Given the description of an element on the screen output the (x, y) to click on. 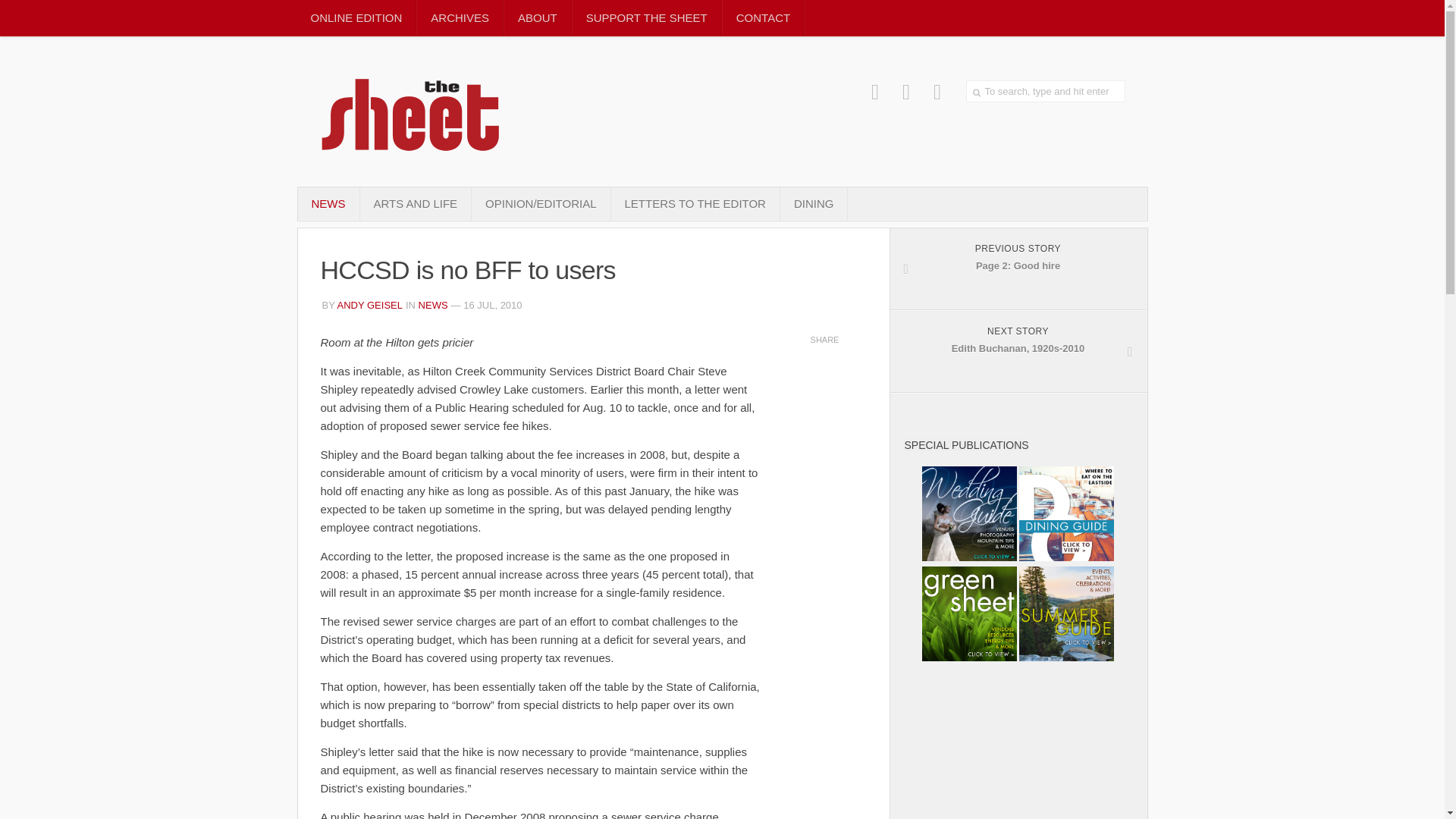
NEWS (433, 305)
RSS feed (936, 92)
Follow The Sheet on Twitter (906, 92)
ARCHIVES (459, 18)
Posts by Andy Geisel (370, 305)
ONLINE EDITION (356, 18)
ANDY GEISEL (370, 305)
ARTS AND LIFE (1018, 269)
ABOUT (414, 203)
To search, type and hit enter (536, 18)
CONTACT (1045, 91)
The Sheet on Facebook (762, 18)
LETTERS TO THE EDITOR (1018, 352)
